Given the description of an element on the screen output the (x, y) to click on. 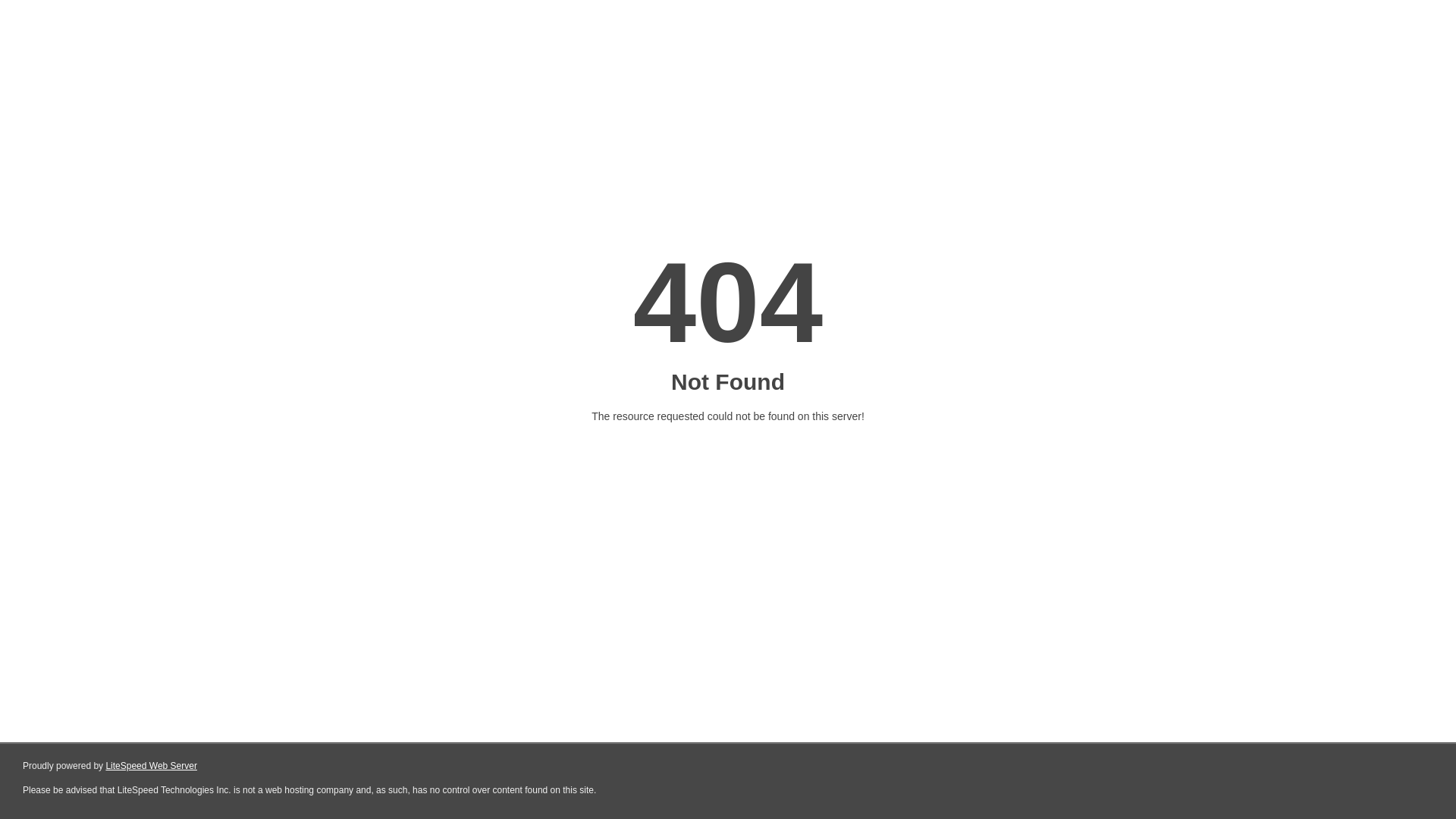
LiteSpeed Web Server Element type: text (151, 765)
